Given the description of an element on the screen output the (x, y) to click on. 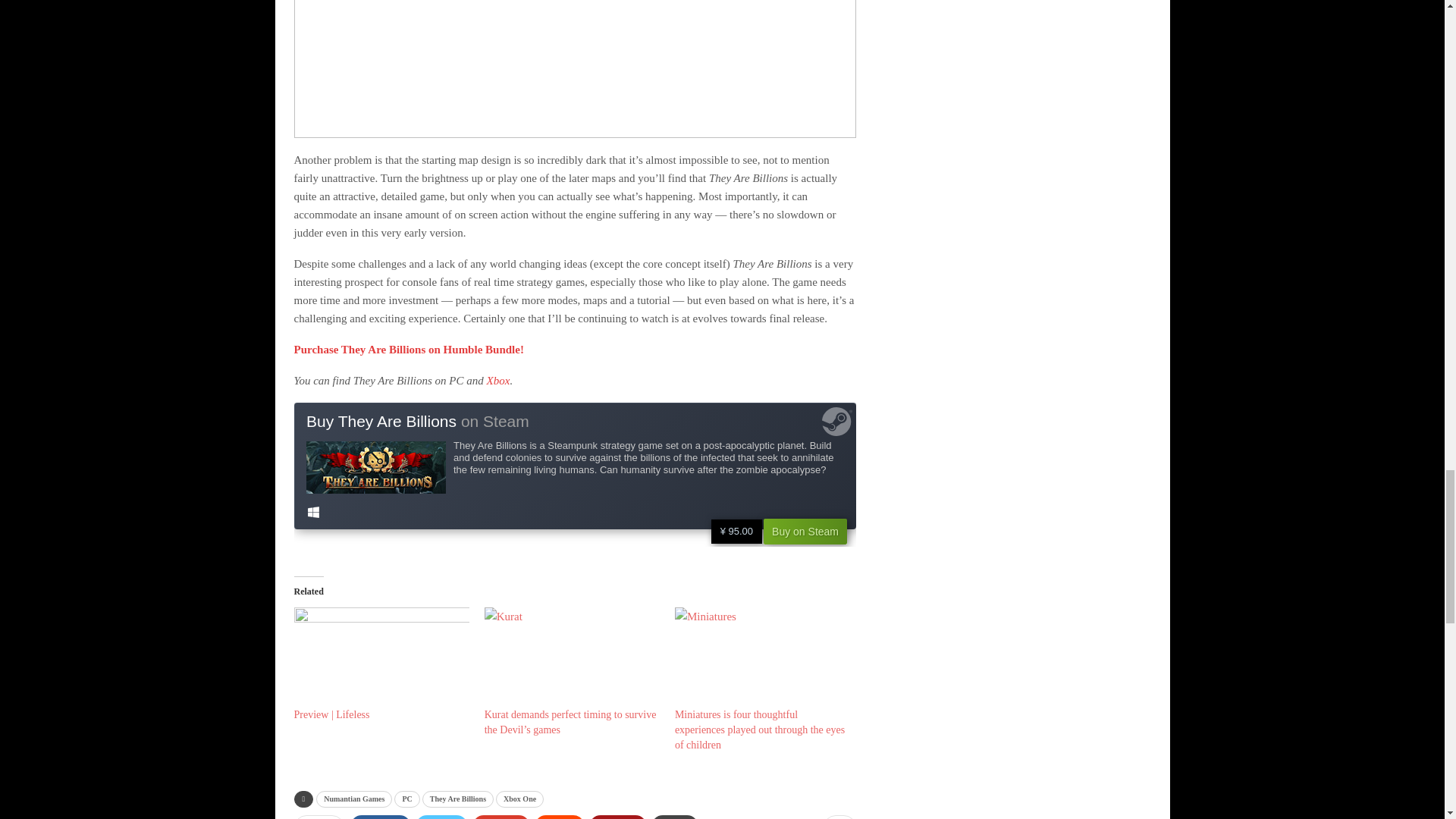
PC (406, 799)
Xbox One (519, 799)
Twitter (440, 816)
Facebook (381, 816)
Xbox (498, 380)
They Are Billions (457, 799)
0 (840, 816)
Purchase They Are Billions on Humble Bundle! (409, 349)
